Given the description of an element on the screen output the (x, y) to click on. 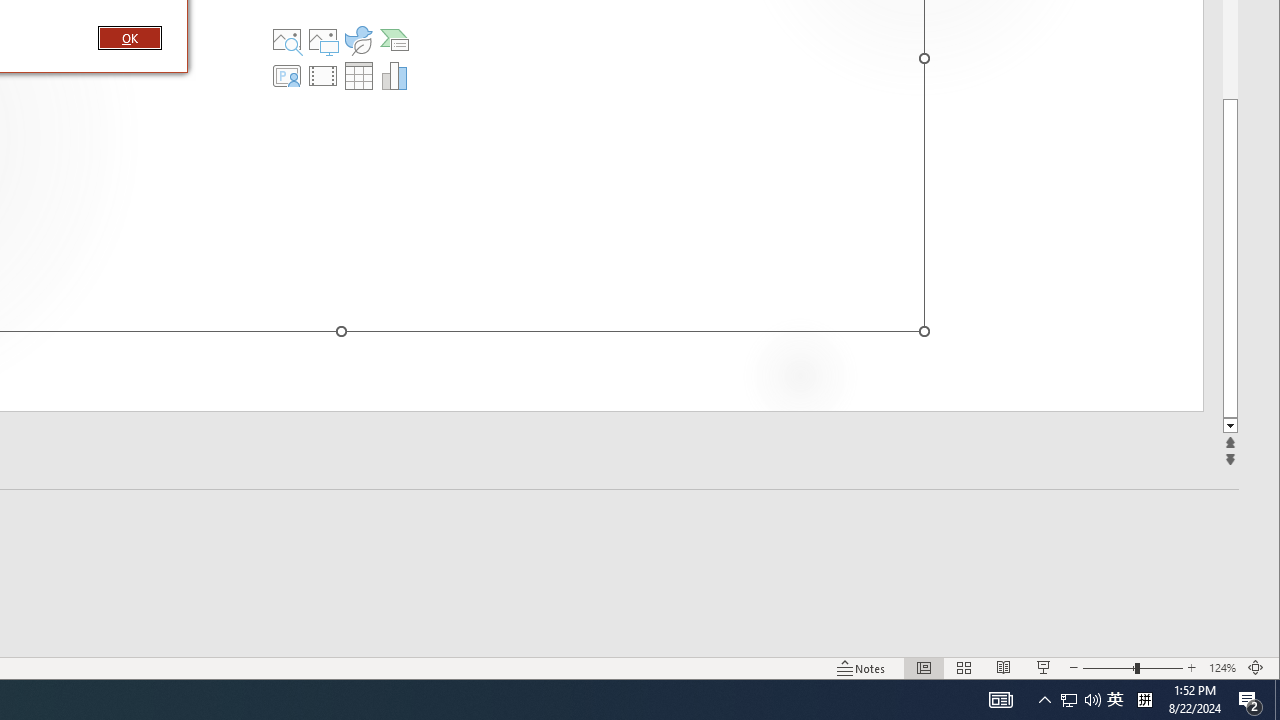
Stock Images (287, 39)
Show desktop (1277, 699)
Action Center, 2 new notifications (1250, 699)
OK (130, 37)
Pictures (323, 39)
Zoom 124% (1222, 668)
Insert Cameo (287, 75)
AutomationID: 4105 (1000, 699)
Insert Table (359, 75)
